Given the description of an element on the screen output the (x, y) to click on. 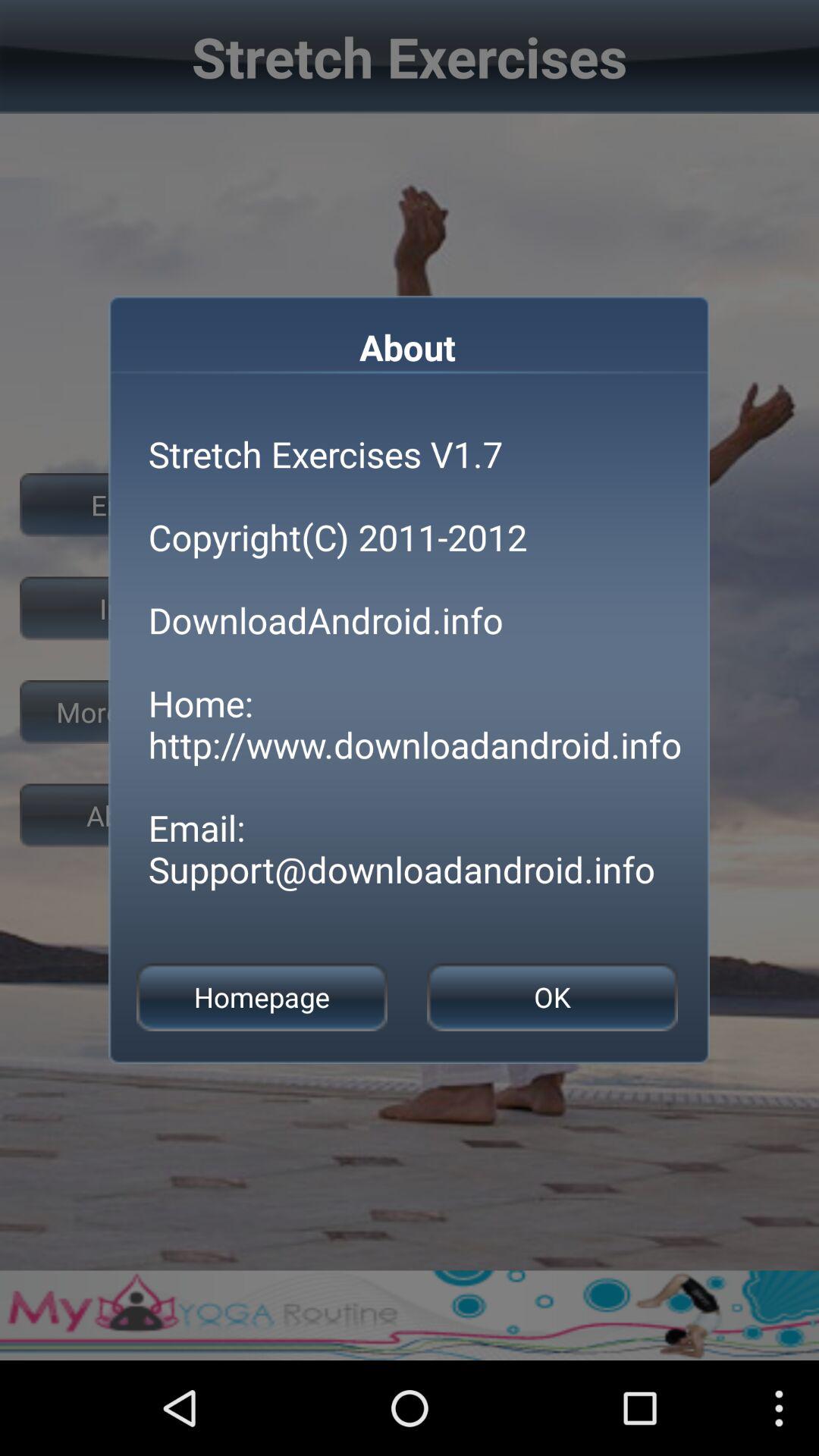
open icon next to ok (261, 997)
